Given the description of an element on the screen output the (x, y) to click on. 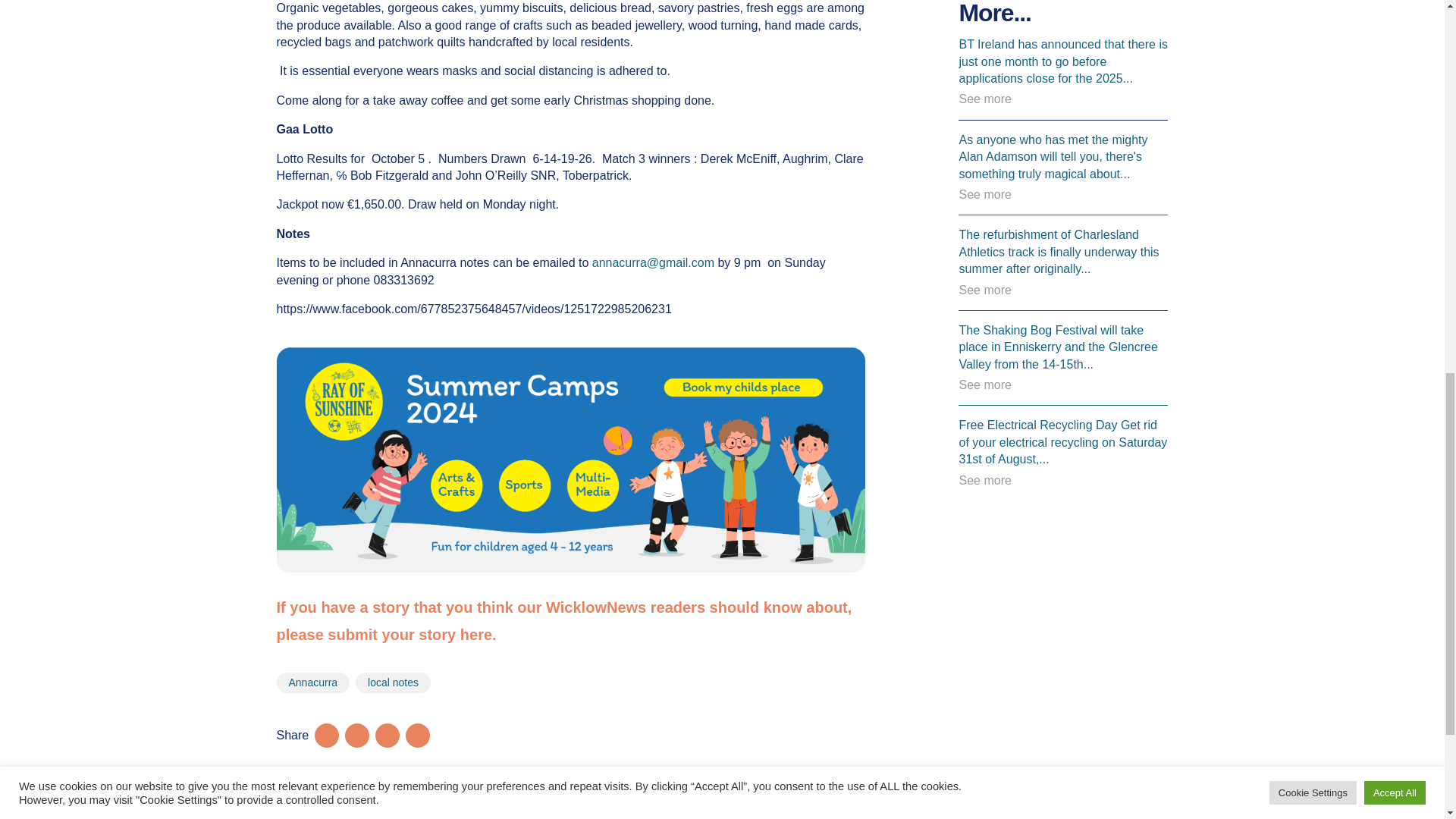
Annacurra (312, 682)
local notes (392, 682)
